Given the description of an element on the screen output the (x, y) to click on. 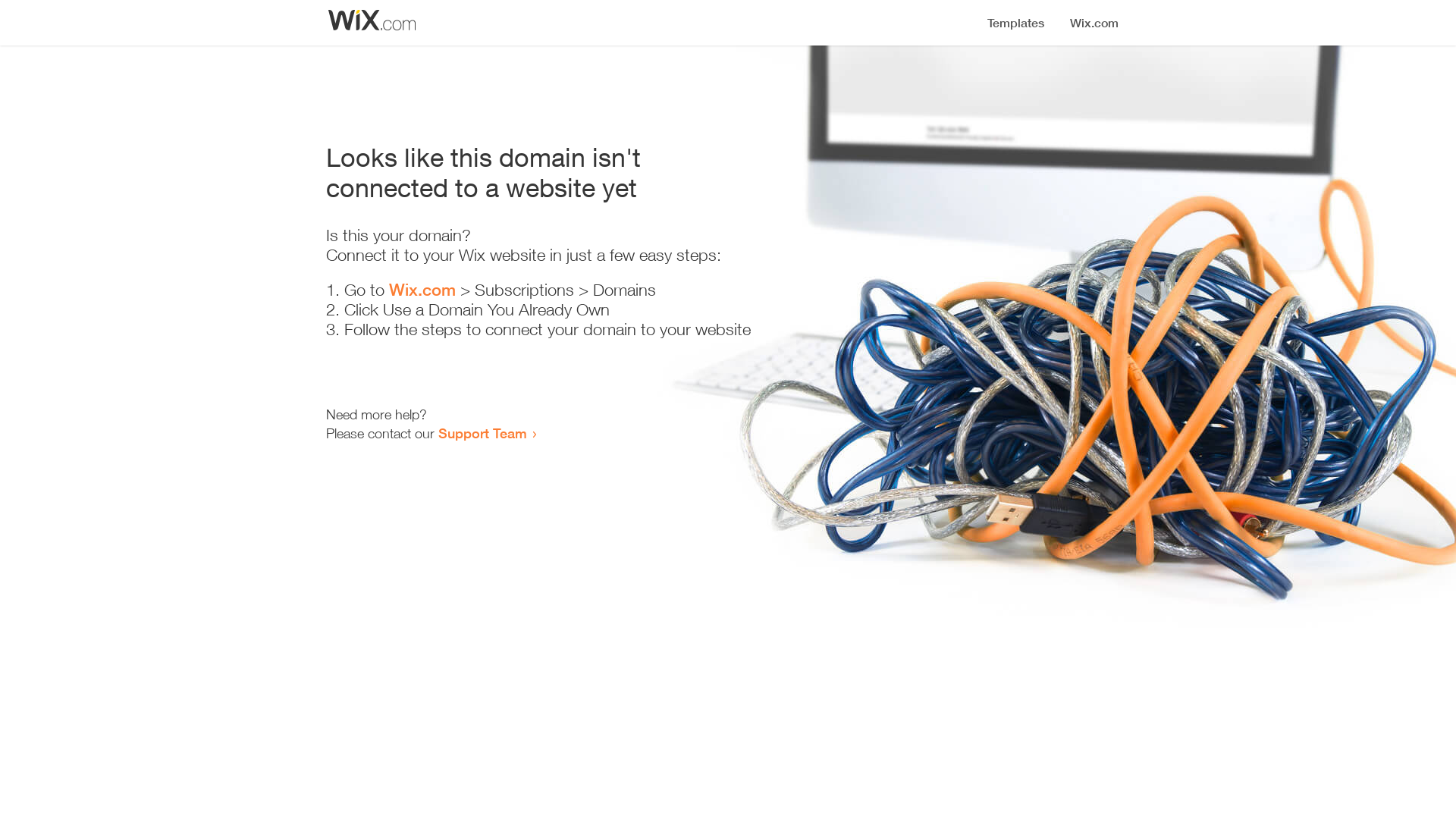
Support Team Element type: text (482, 432)
Wix.com Element type: text (422, 289)
